Given the description of an element on the screen output the (x, y) to click on. 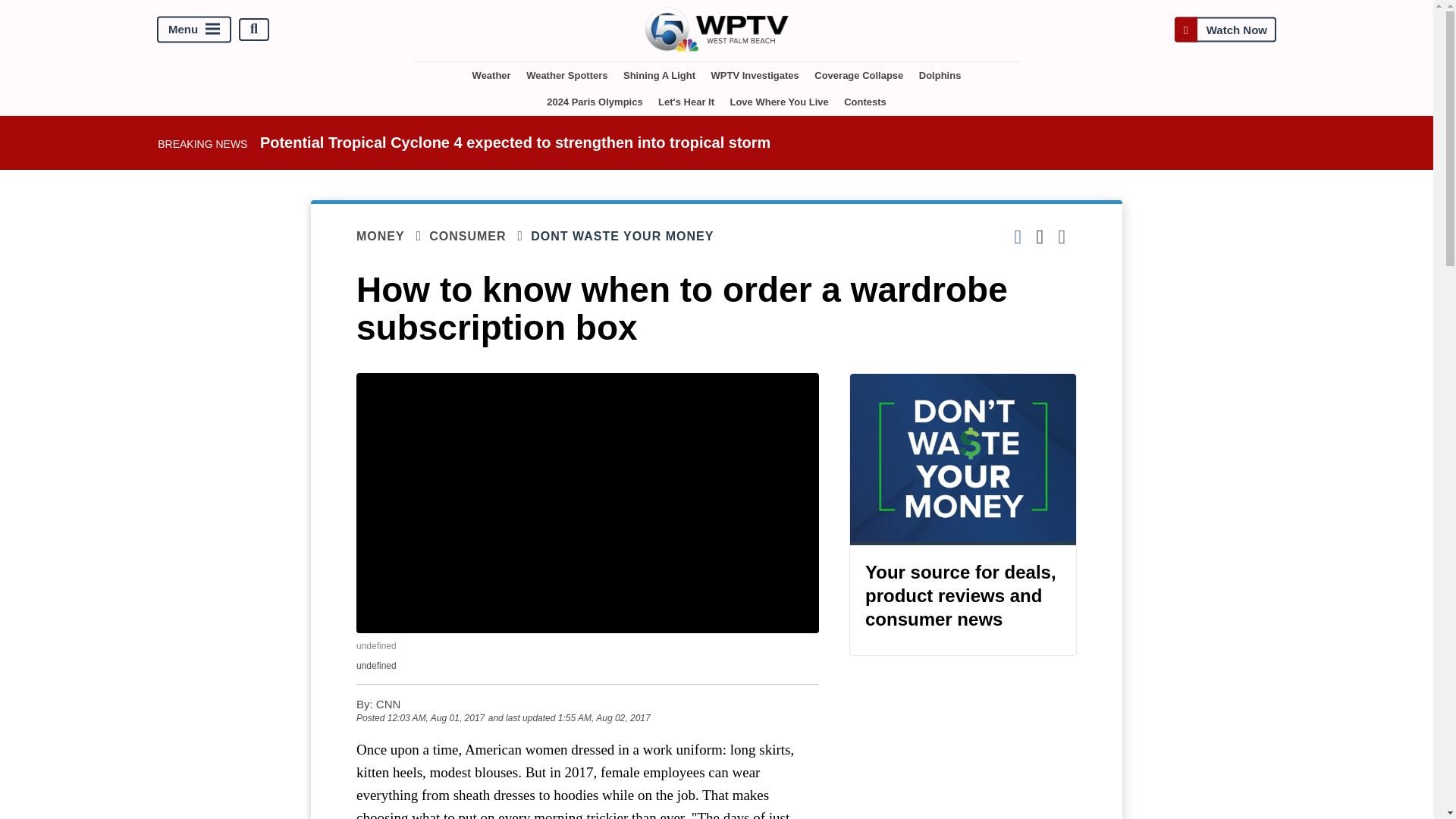
Menu (194, 28)
Watch Now (1224, 29)
